Given the description of an element on the screen output the (x, y) to click on. 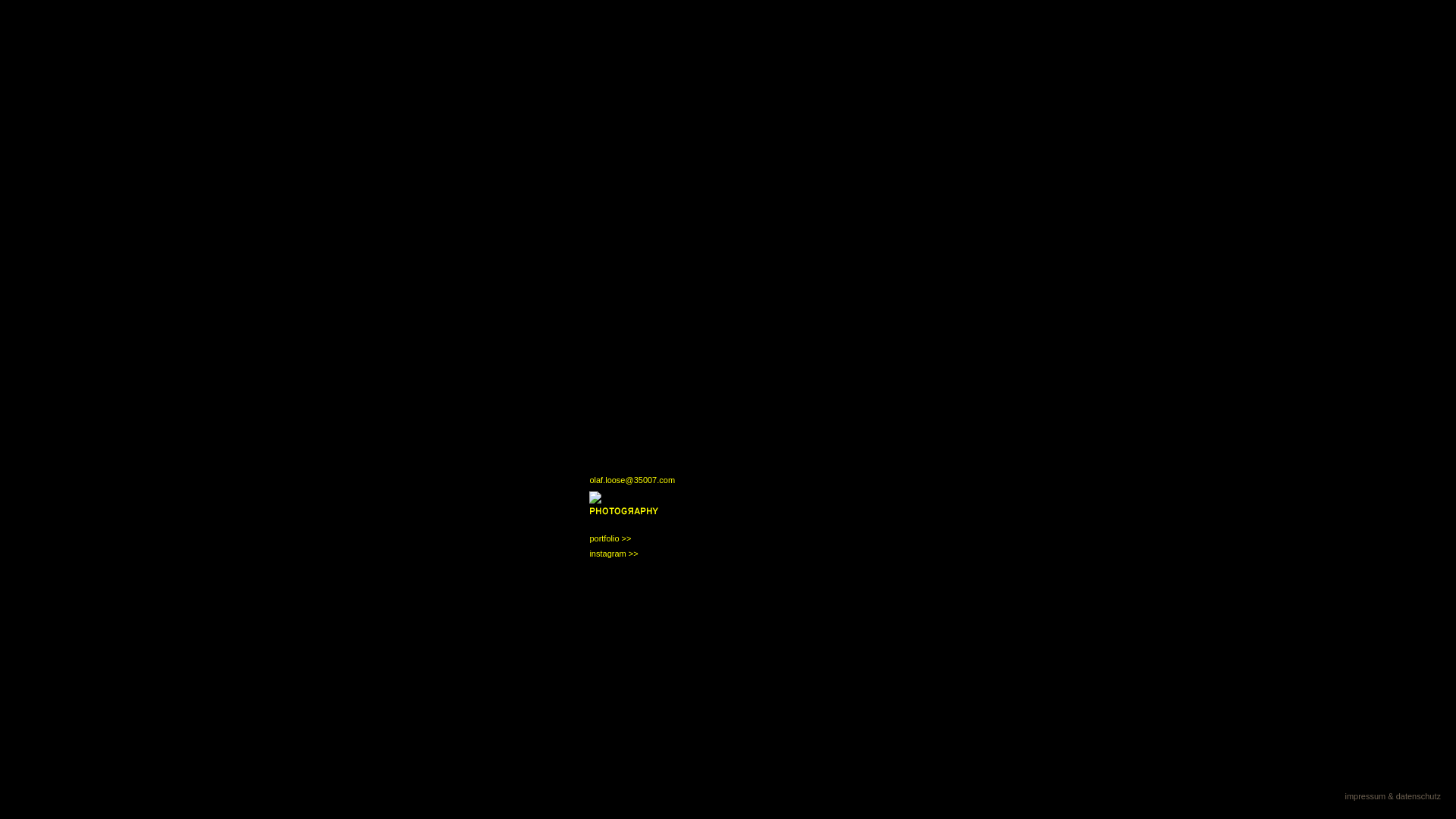
olaf.loose@35007.com Element type: text (631, 479)
impressum & datenschutz Element type: text (1392, 795)
portfolio >> Element type: text (609, 537)
instagram >> Element type: text (613, 553)
